Given the description of an element on the screen output the (x, y) to click on. 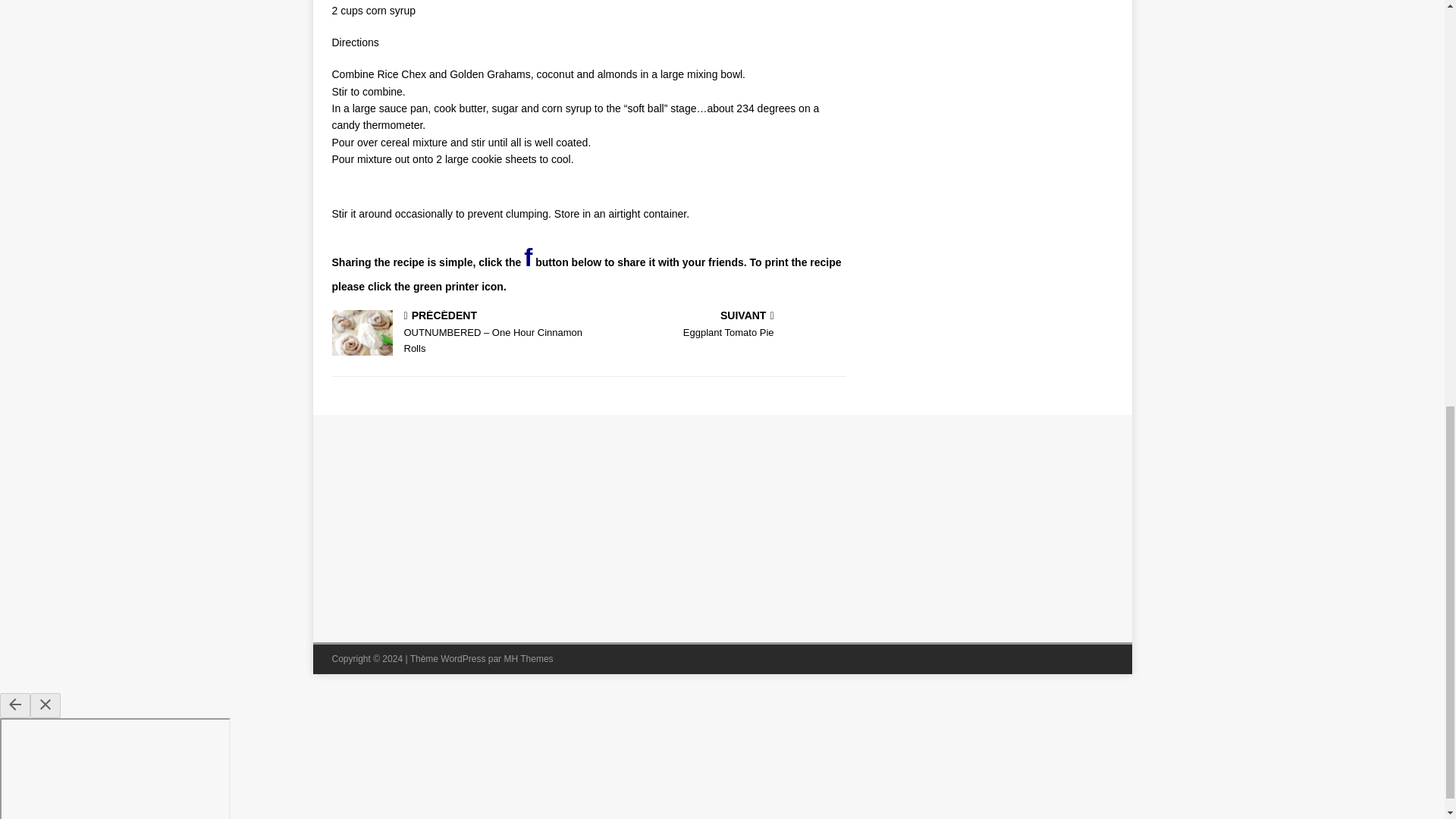
MH Themes (528, 658)
